Given the description of an element on the screen output the (x, y) to click on. 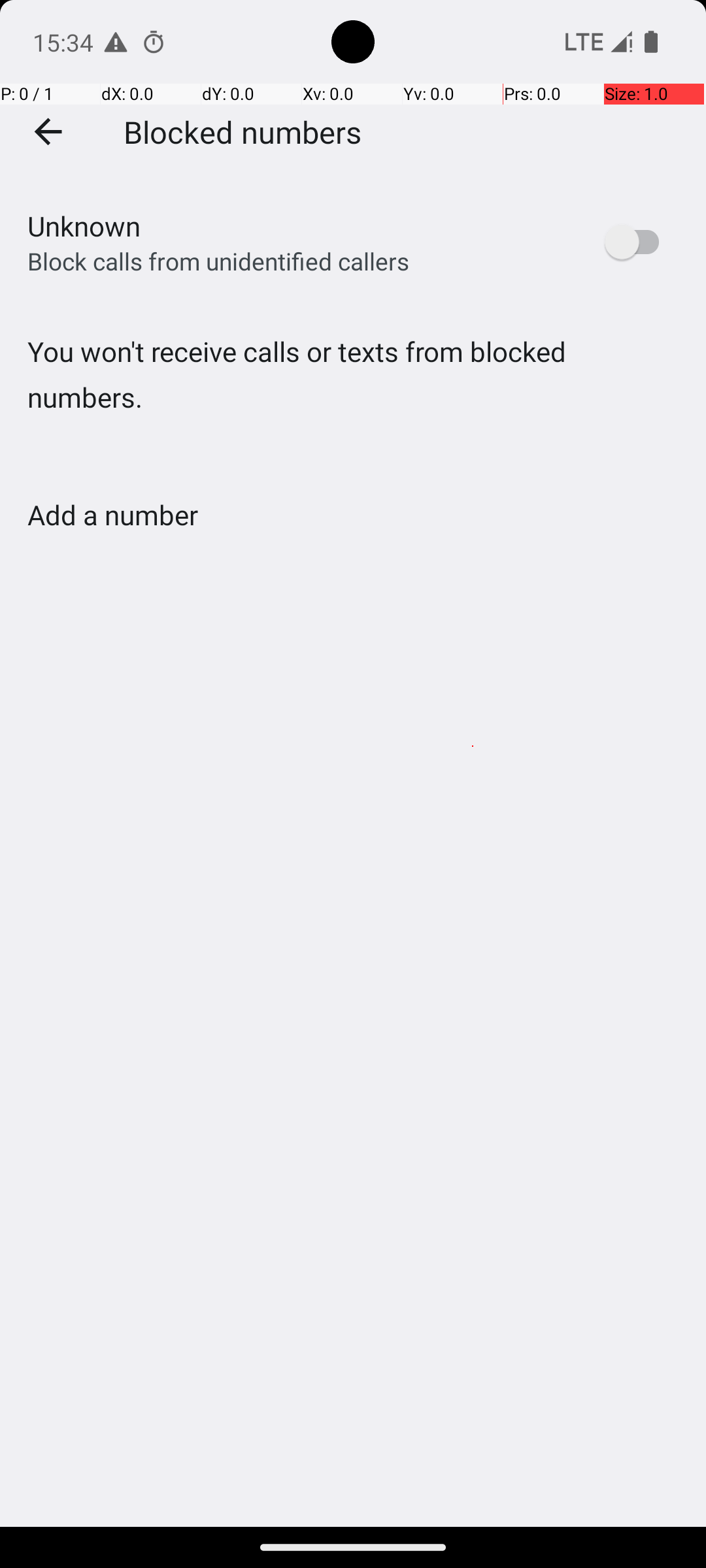
Blocked numbers Element type: android.widget.TextView (242, 131)
You won't receive calls or texts from blocked numbers. Element type: android.widget.TextView (352, 401)
Add a number Element type: android.widget.TextView (112, 514)
Unknown Element type: android.widget.TextView (83, 225)
Block calls from unidentified callers Element type: android.widget.TextView (218, 260)
